Given the description of an element on the screen output the (x, y) to click on. 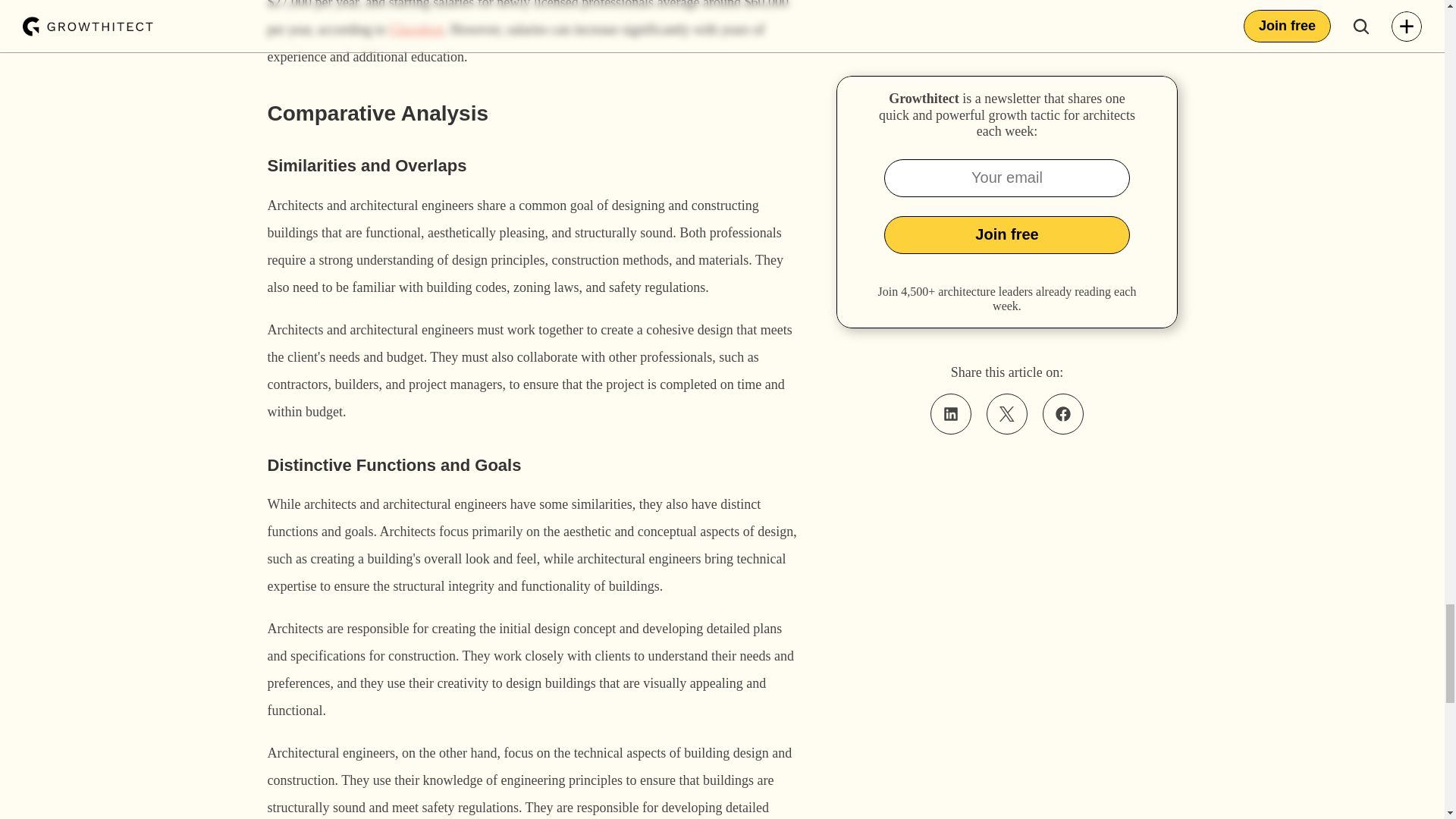
Glassdoor (416, 29)
